Given the description of an element on the screen output the (x, y) to click on. 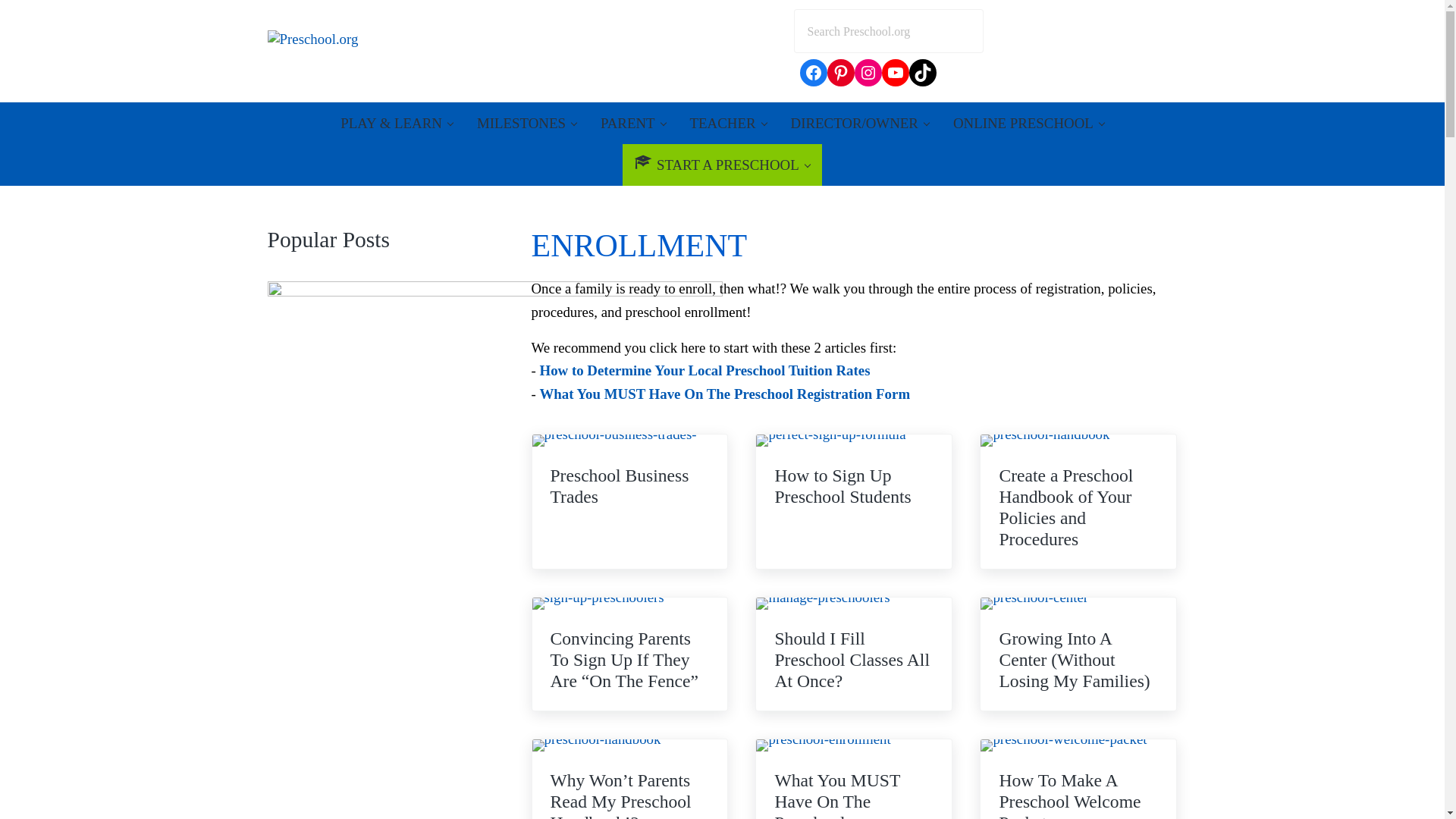
Pinterest (840, 72)
MILESTONES (526, 123)
YouTube (895, 72)
Instagram (868, 72)
PARENT (633, 123)
TikTok (922, 72)
TEACHER (728, 123)
Facebook (813, 72)
